Given the description of an element on the screen output the (x, y) to click on. 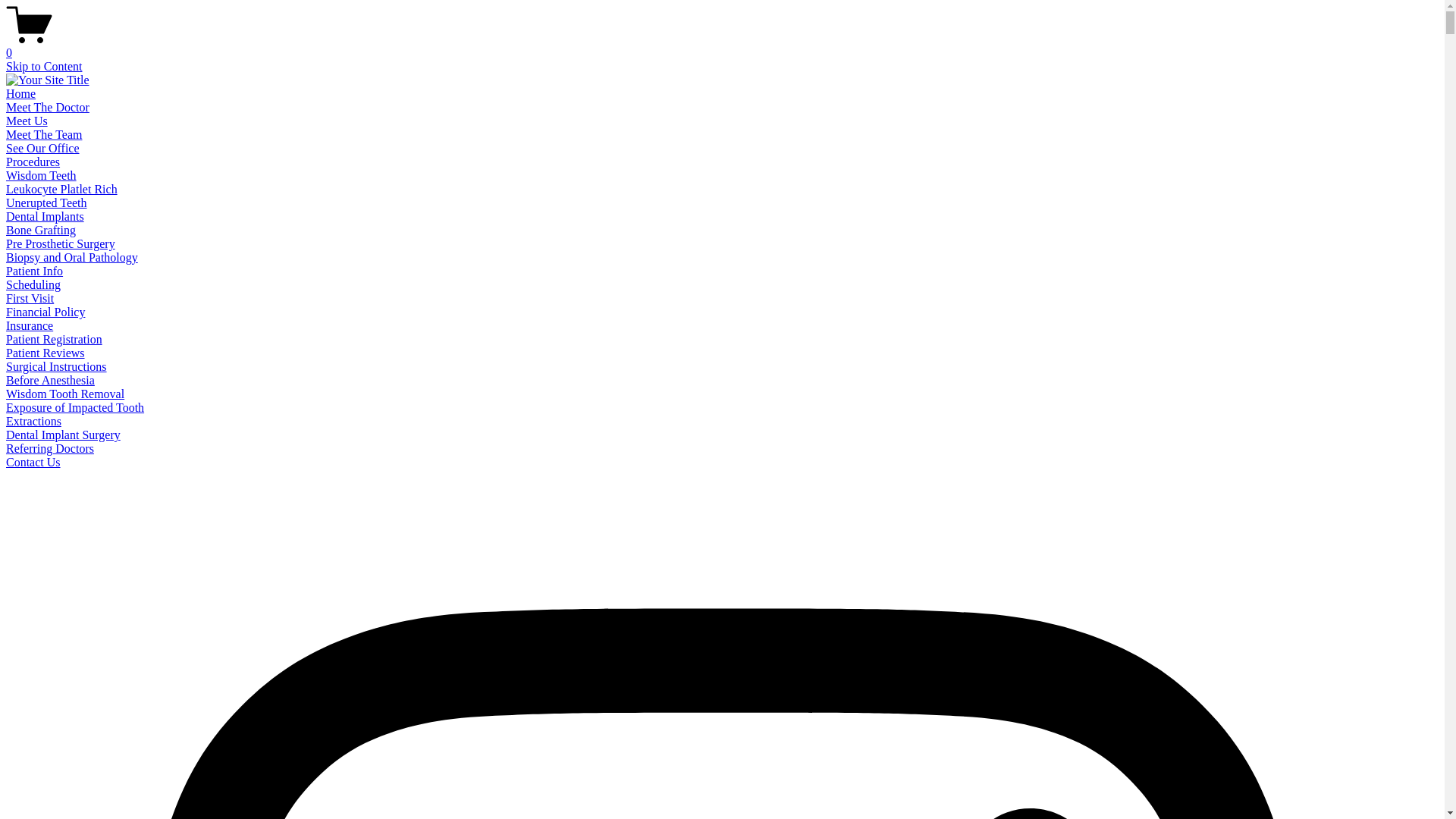
Meet Us (26, 120)
Exposure of Impacted Tooth (74, 407)
Wisdom Tooth Removal (64, 393)
Patient Info (33, 270)
Contact Us (33, 461)
Patient Reviews (44, 352)
Procedures (32, 161)
Extractions (33, 420)
Biopsy and Oral Pathology (71, 256)
See Our Office (42, 147)
Referring Doctors (49, 448)
Leukocyte Platlet Rich (61, 188)
Patient Registration (53, 338)
Wisdom Teeth (41, 174)
Dental Implants (44, 215)
